Given the description of an element on the screen output the (x, y) to click on. 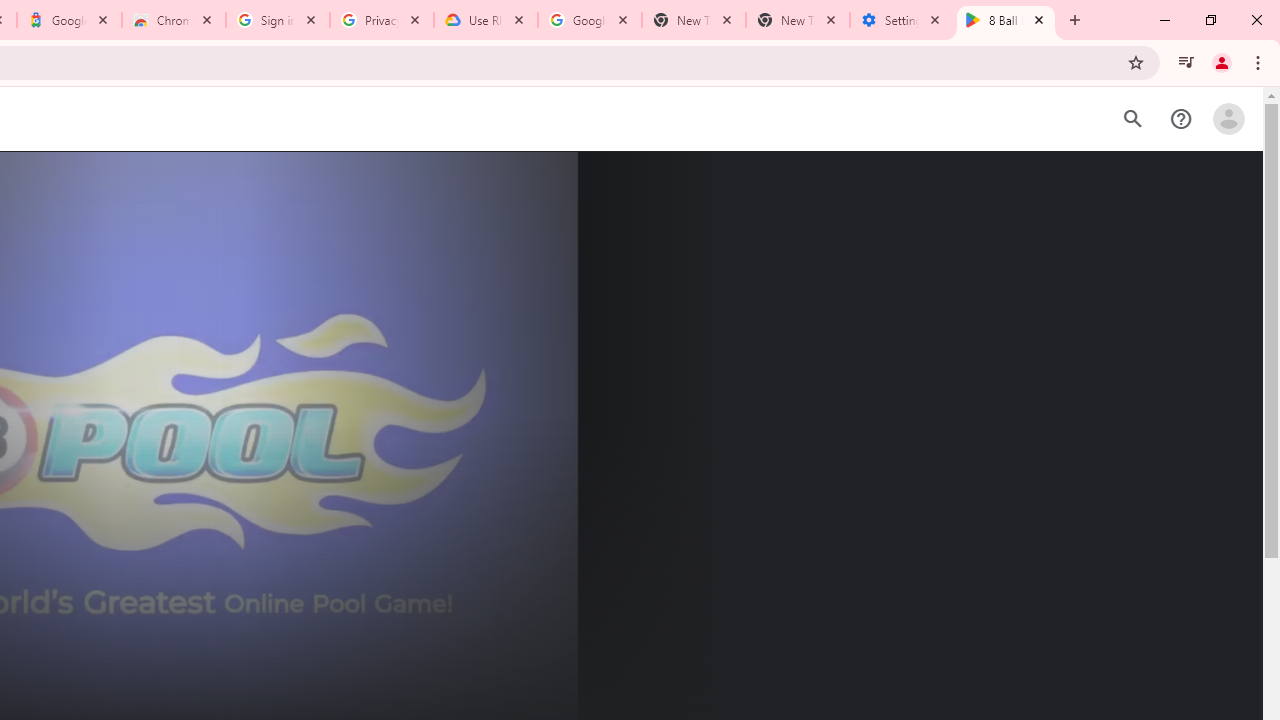
Chrome Web Store - Color themes by Chrome (173, 20)
Help Center (1180, 119)
Sign in - Google Accounts (278, 20)
New Tab (797, 20)
Google (68, 20)
8 Ball Pool - Apps on Google Play (1005, 20)
Control your music, videos, and more (1185, 62)
